Given the description of an element on the screen output the (x, y) to click on. 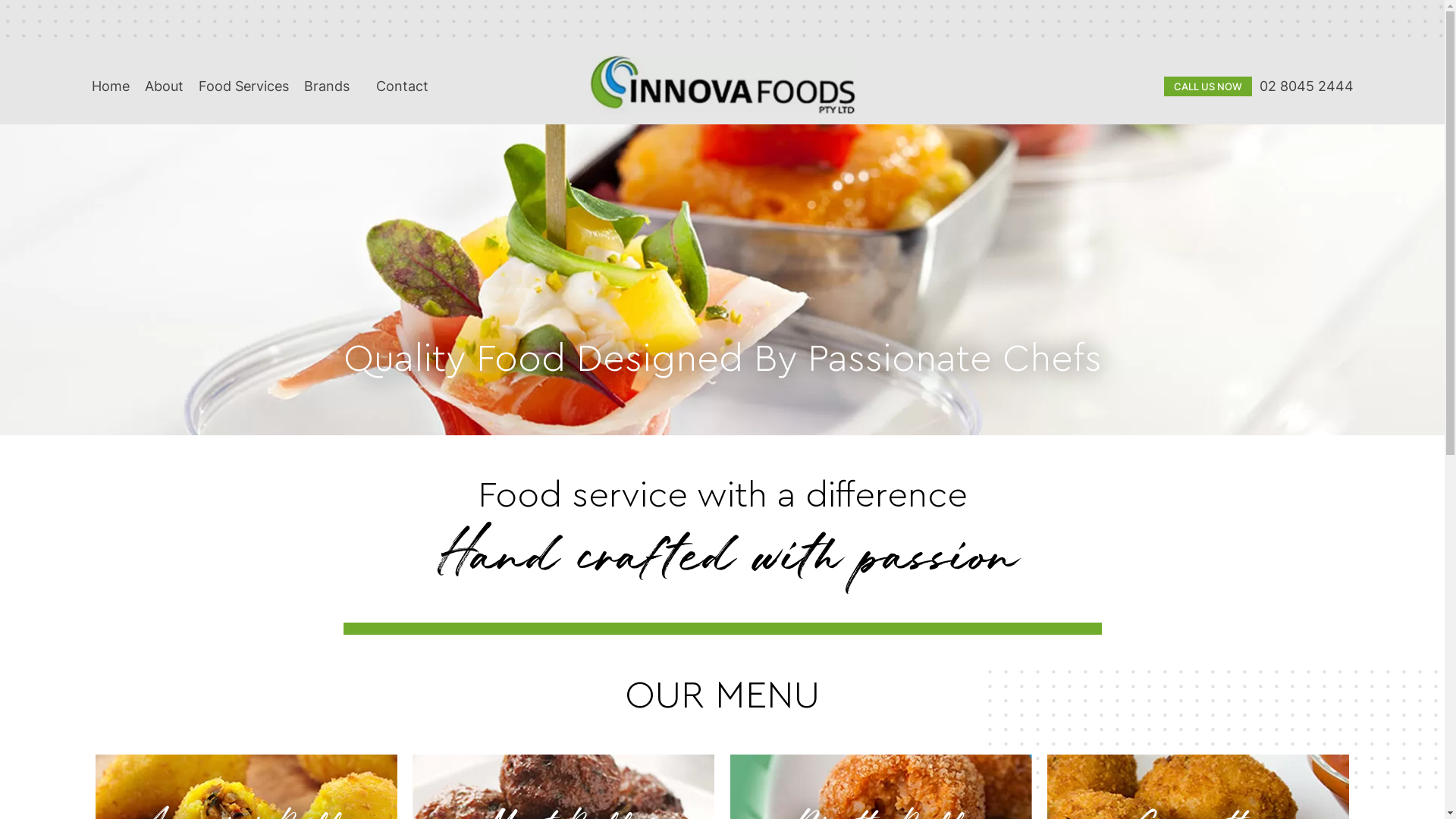
Brands Element type: text (331, 86)
Contact Element type: text (402, 86)
Home Element type: text (109, 86)
About Element type: text (163, 86)
Food Services Element type: text (243, 86)
CALL US NOW 02 8045 2444 Element type: text (1257, 84)
